Given the description of an element on the screen output the (x, y) to click on. 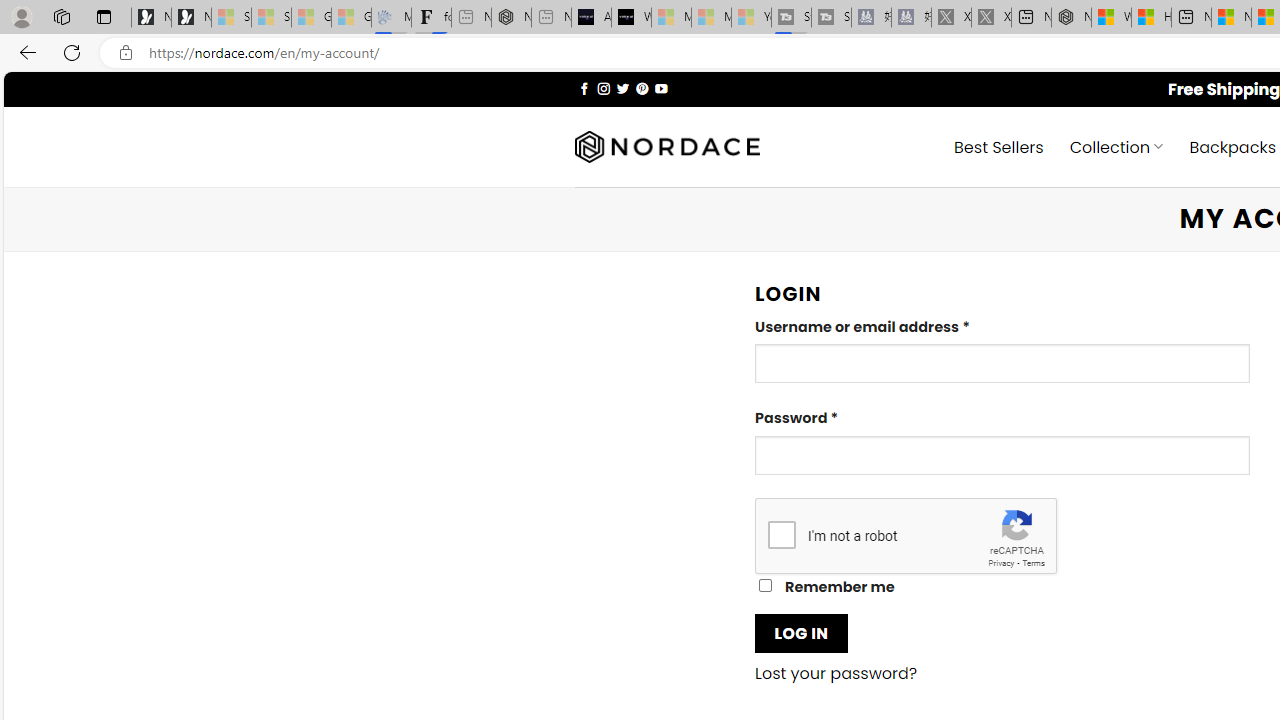
Microsoft Start Sports - Sleeping (671, 17)
  Best Sellers (998, 146)
Terms (1033, 562)
